Given the description of an element on the screen output the (x, y) to click on. 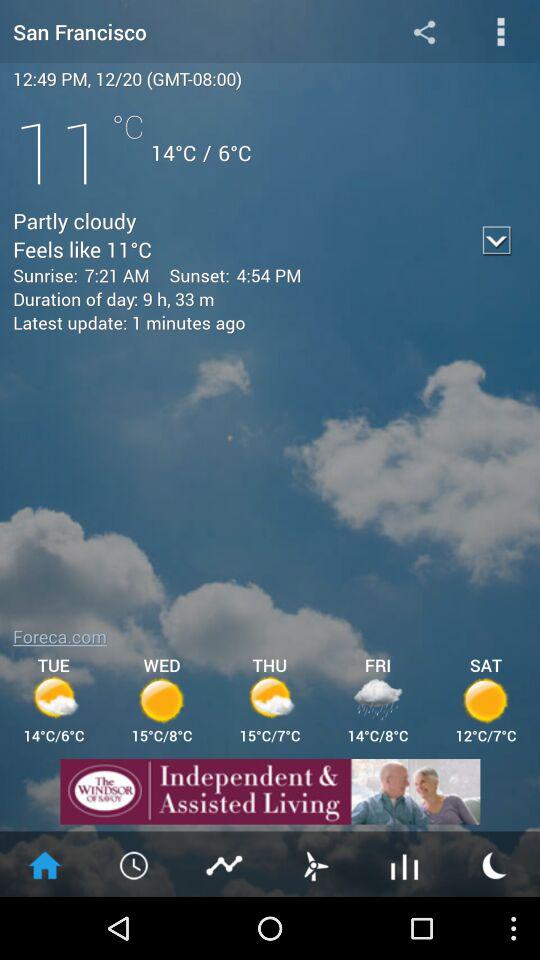
go to the home page (45, 864)
